Given the description of an element on the screen output the (x, y) to click on. 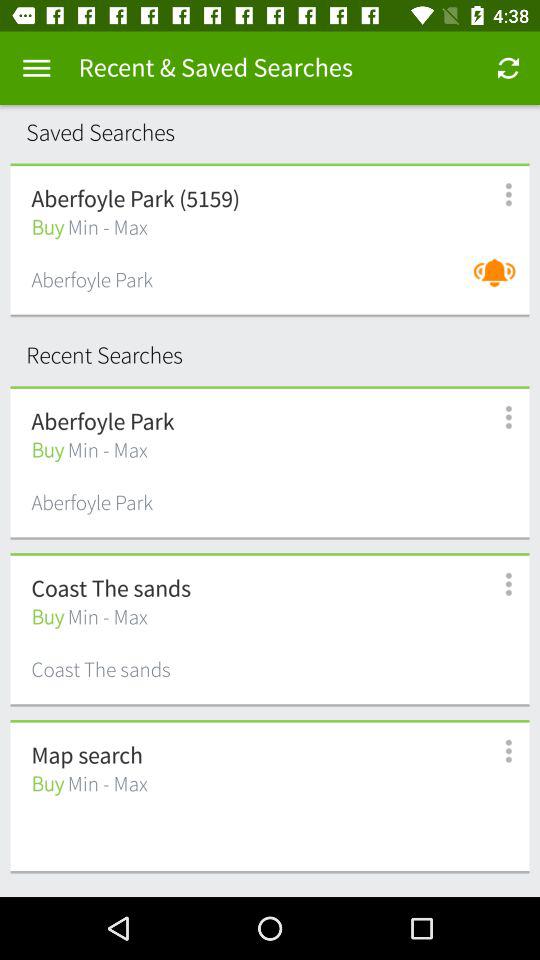
this is join website (497, 751)
